Given the description of an element on the screen output the (x, y) to click on. 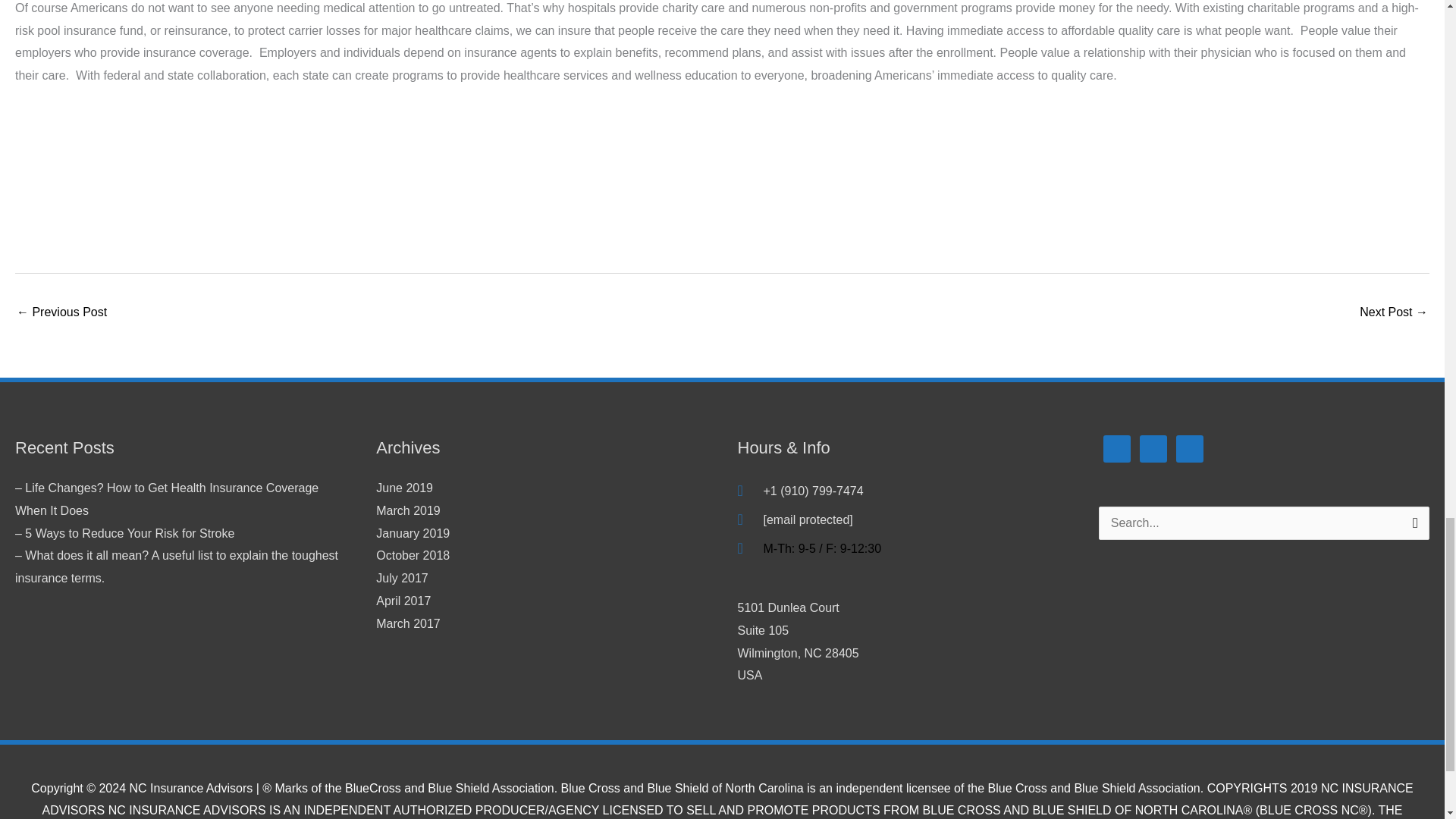
June 2019 (403, 487)
Employer Group Plans (1393, 313)
March 2017 (408, 623)
July 2017 (401, 577)
April 2017 (402, 600)
January 2019 (412, 533)
March 2019 (408, 510)
Open address in Google Maps (901, 642)
October 2018 (901, 642)
Why do I need to look at long-term care insurance? (412, 554)
